Given the description of an element on the screen output the (x, y) to click on. 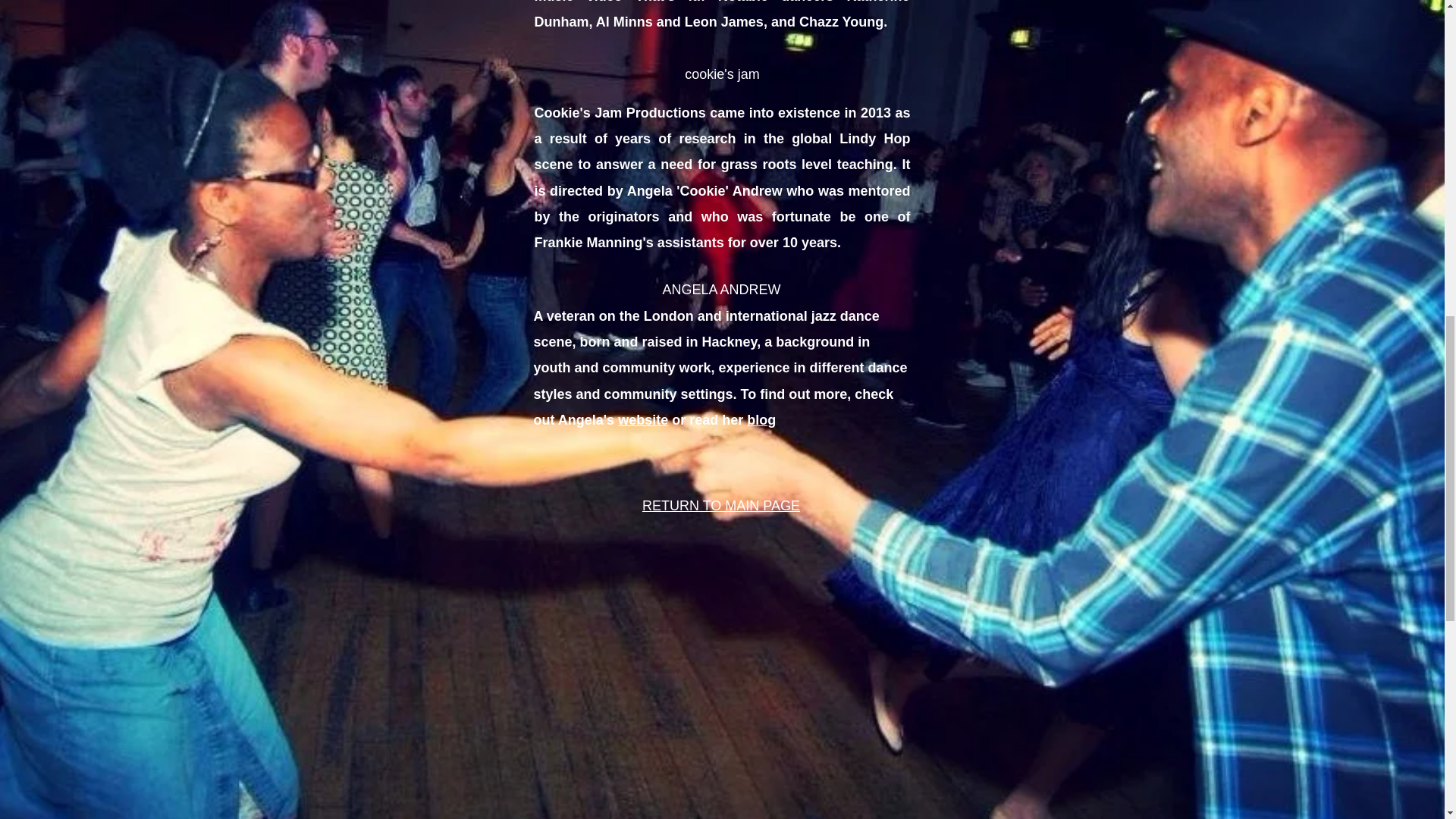
website (642, 419)
blog (761, 419)
RETURN TO MAIN PAGE (720, 505)
